Given the description of an element on the screen output the (x, y) to click on. 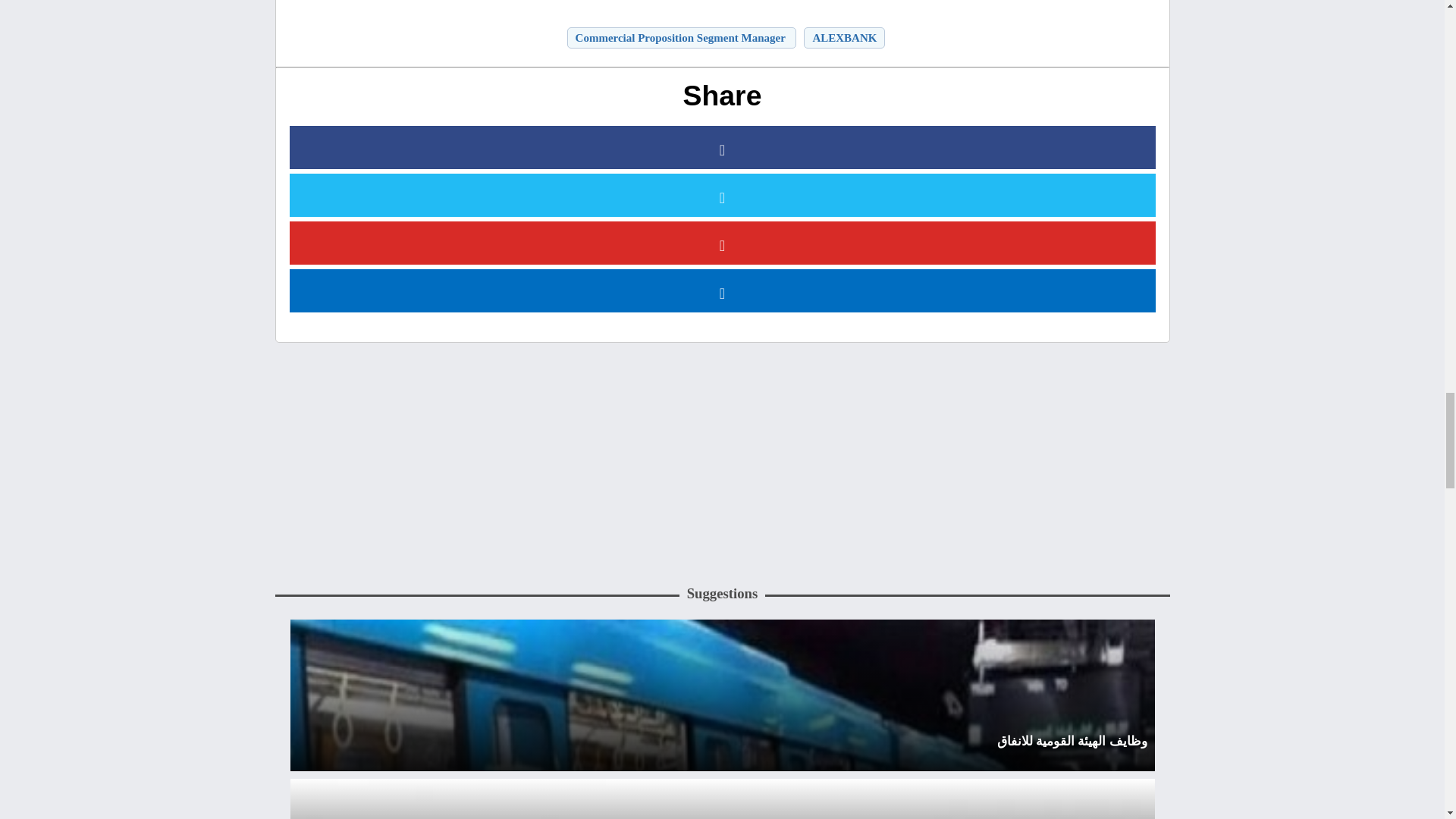
ALEXBANK (840, 37)
Commercial Proposition Segment Manager (677, 37)
